Given the description of an element on the screen output the (x, y) to click on. 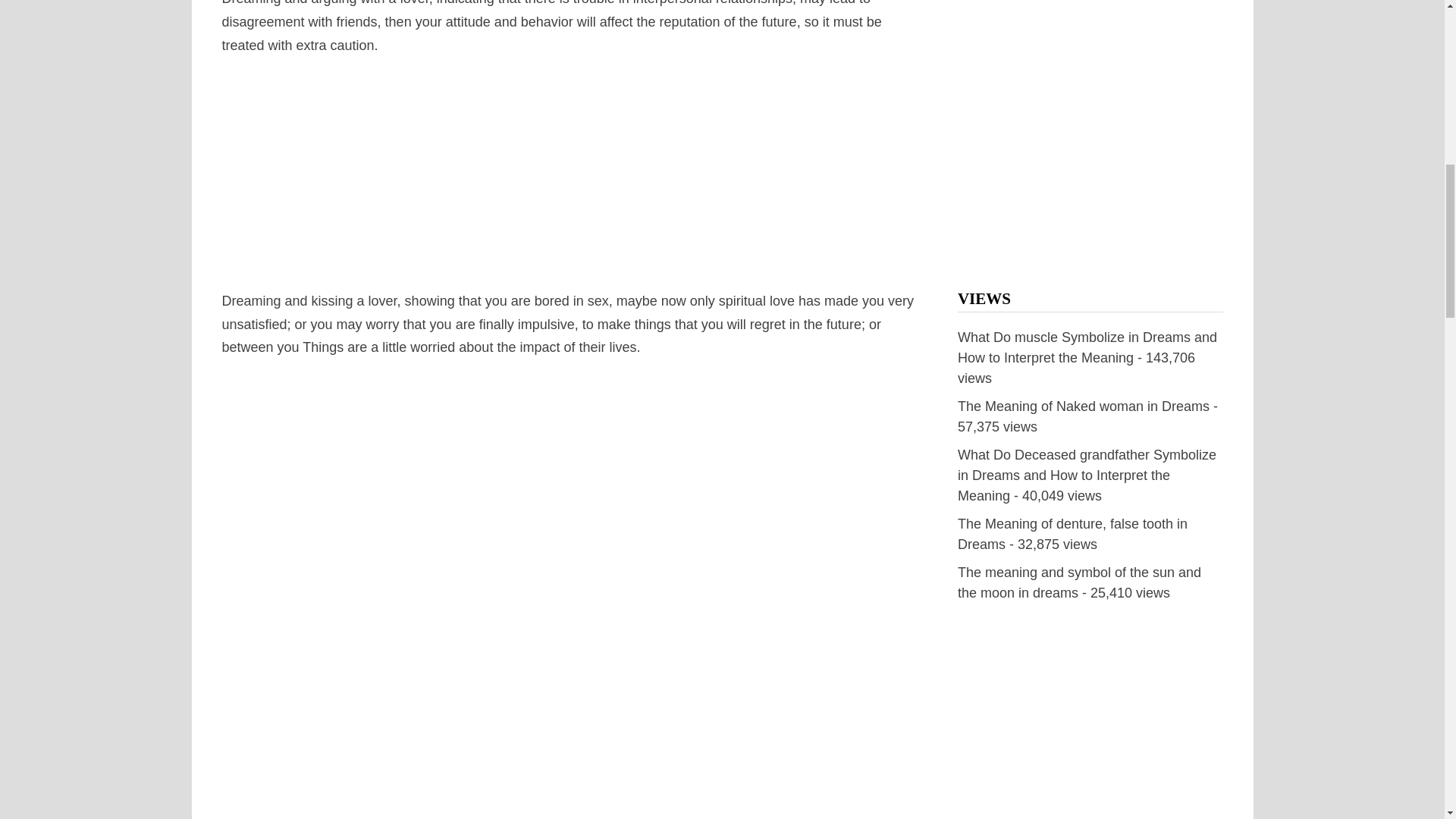
The Meaning of Naked woman in Dreams (1083, 406)
The Meaning of denture, false tooth in Dreams (1073, 534)
The meaning and symbol of the sun and the moon in dreams (1079, 582)
